Given the description of an element on the screen output the (x, y) to click on. 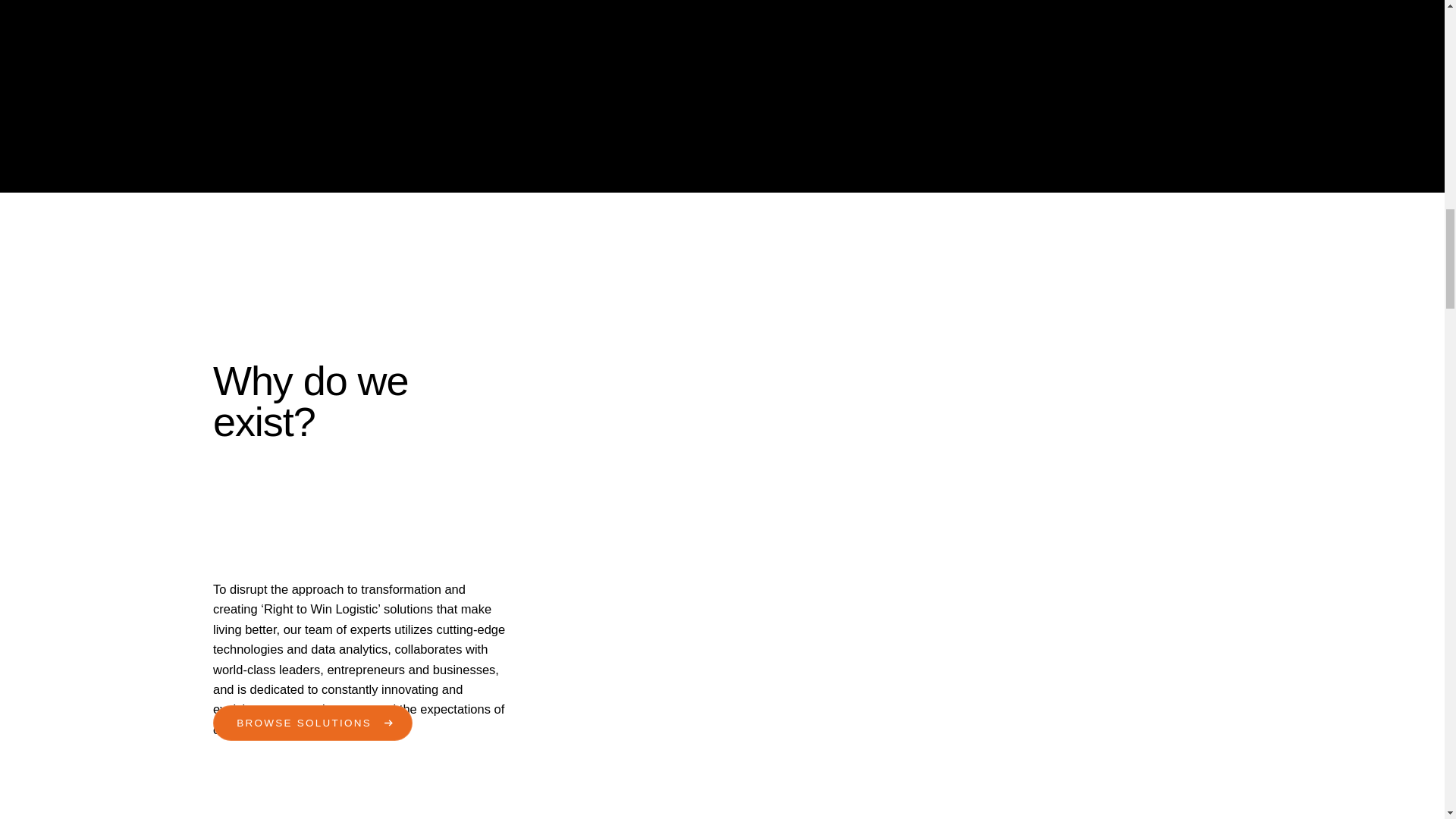
Why do we exist? (360, 401)
BROWSE SOLUTIONS (312, 723)
